Given the description of an element on the screen output the (x, y) to click on. 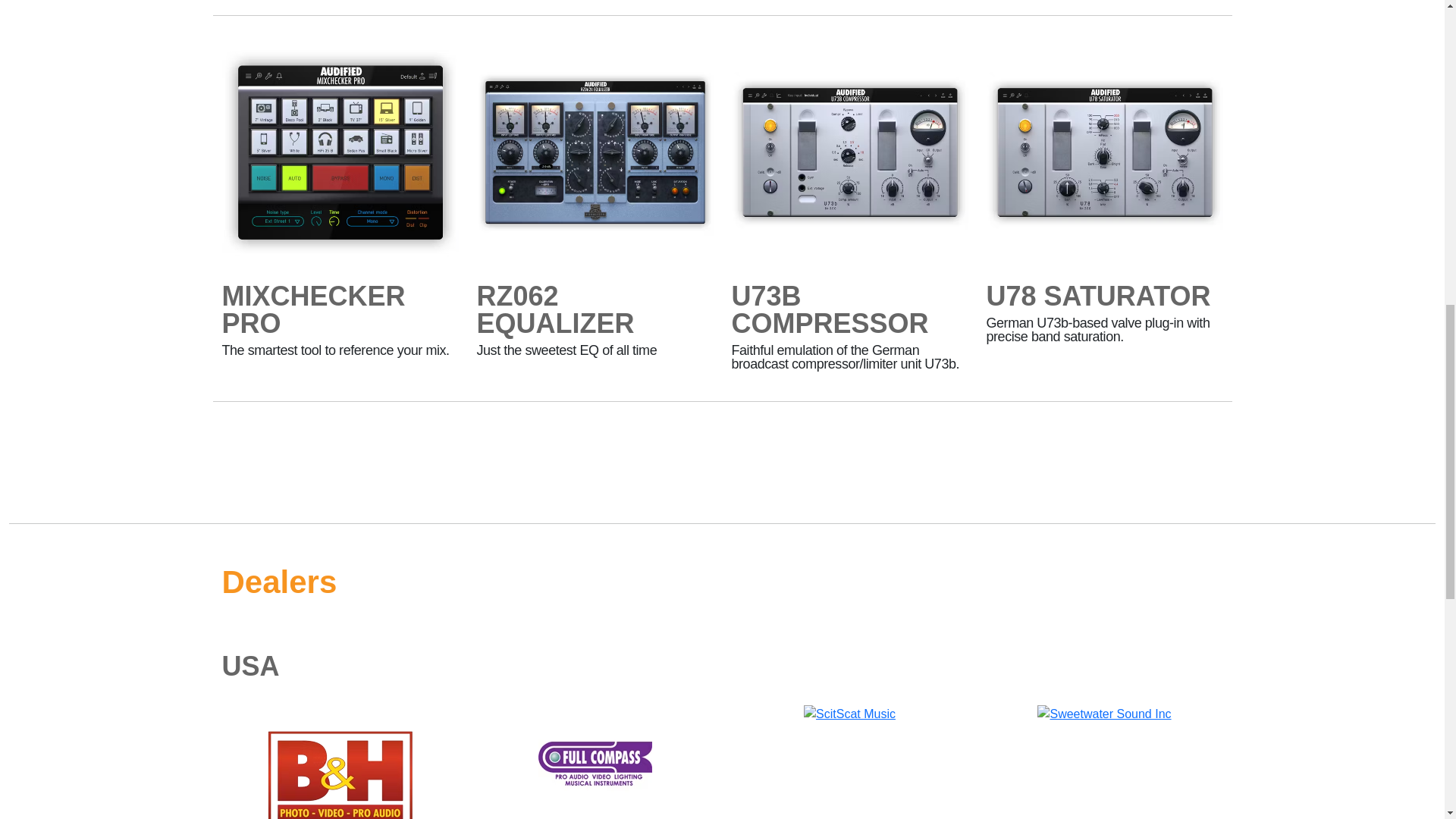
Full Compass (595, 761)
U73B COMPRESSOR (849, 328)
Sweetwater Sound Inc (1103, 714)
RZ062 EQUALIZER (594, 328)
MIXCHECKER PRO (339, 328)
ScitScat Music (849, 714)
U78 SATURATOR (1097, 301)
